Given the description of an element on the screen output the (x, y) to click on. 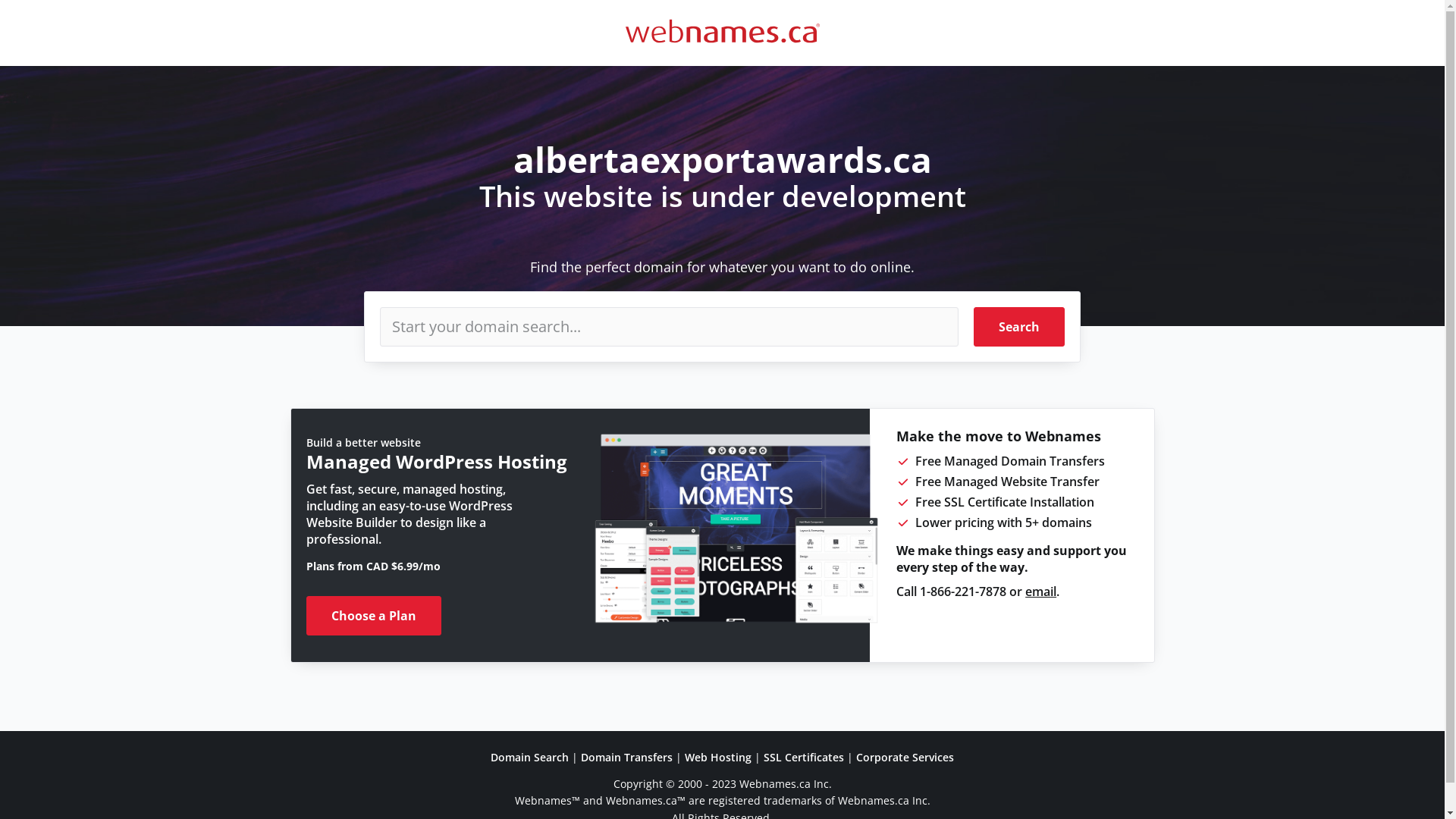
Web Hosting Element type: text (717, 756)
email Element type: text (1040, 591)
Domain Transfers Element type: text (626, 756)
Domain Search Element type: text (529, 756)
Corporate Services Element type: text (904, 756)
SSL Certificates Element type: text (803, 756)
Choose a Plan Element type: text (373, 615)
1-866-221-7878 Element type: text (962, 591)
Search Element type: text (1018, 326)
